Given the description of an element on the screen output the (x, y) to click on. 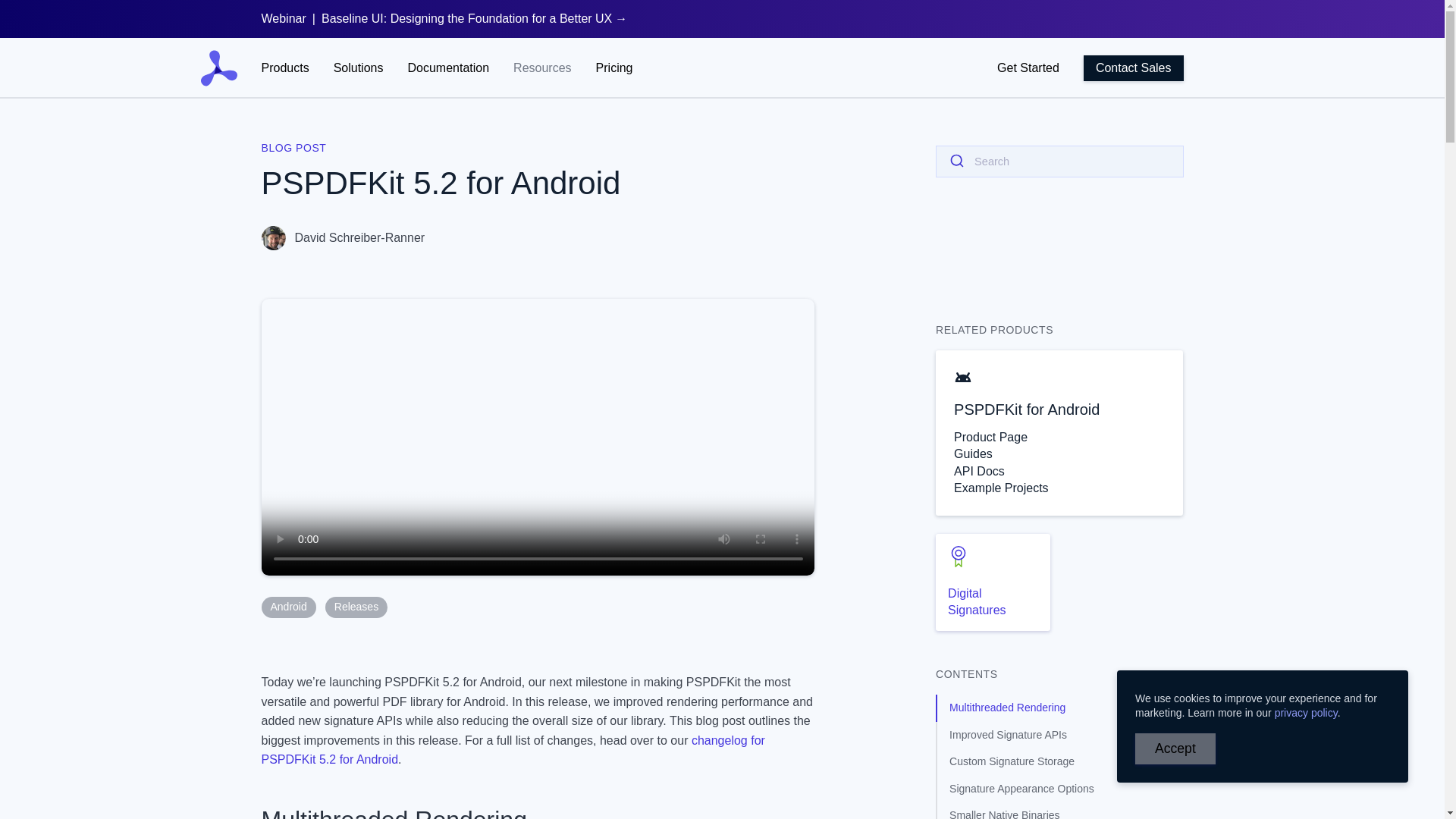
Products (284, 67)
WebinarBaseline UI: Designing the Foundation for a Better UX (443, 18)
